Given the description of an element on the screen output the (x, y) to click on. 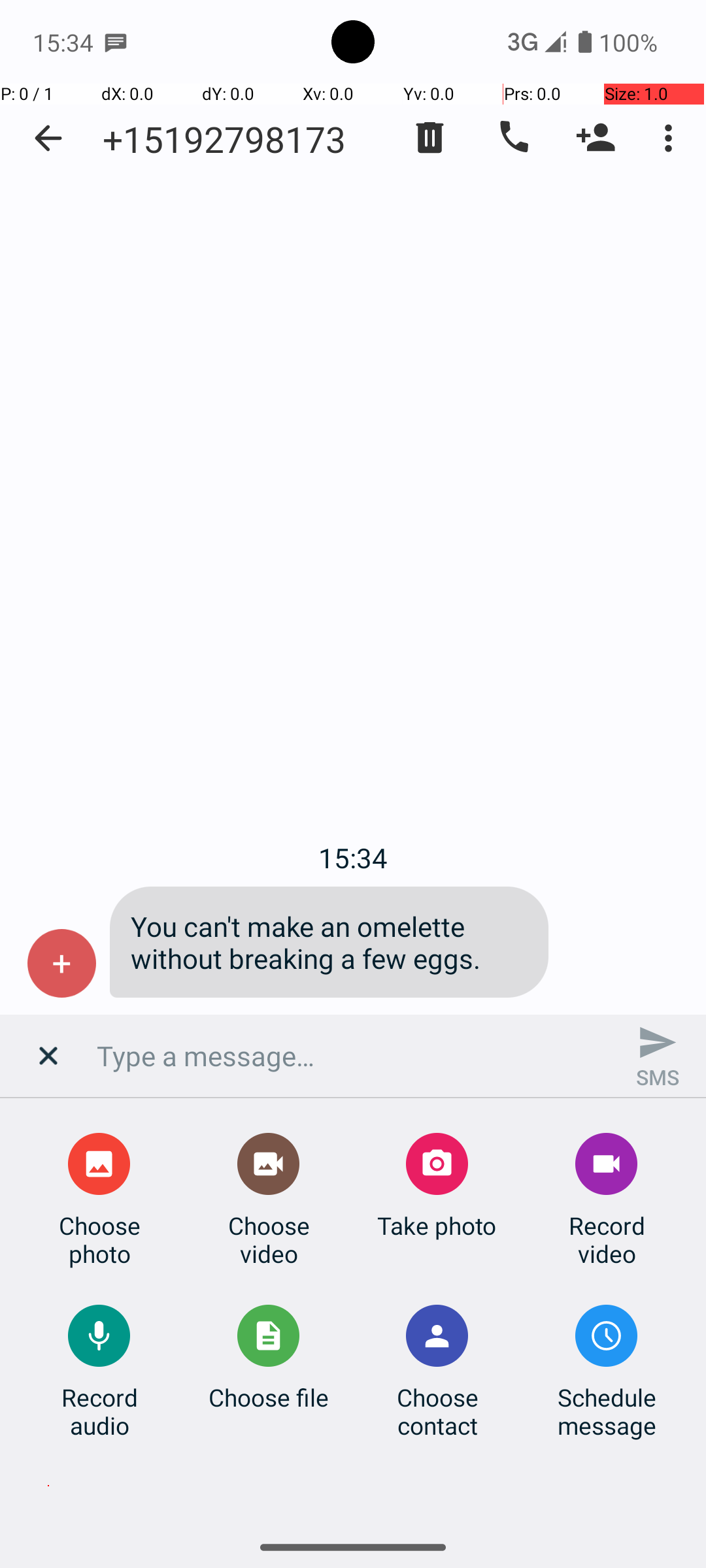
+15192798173 Element type: android.widget.TextView (223, 138)
You can't make an omelette without breaking a few eggs. Element type: android.widget.TextView (328, 941)
Choose photo Element type: android.widget.TextView (98, 1239)
Choose video Element type: android.widget.TextView (268, 1239)
Take photo Element type: android.widget.TextView (436, 1224)
Record video Element type: android.widget.TextView (606, 1239)
Record audio Element type: android.widget.TextView (98, 1410)
Choose file Element type: android.widget.TextView (268, 1396)
Choose contact Element type: android.widget.TextView (436, 1410)
Schedule message Element type: android.widget.TextView (606, 1410)
